Given the description of an element on the screen output the (x, y) to click on. 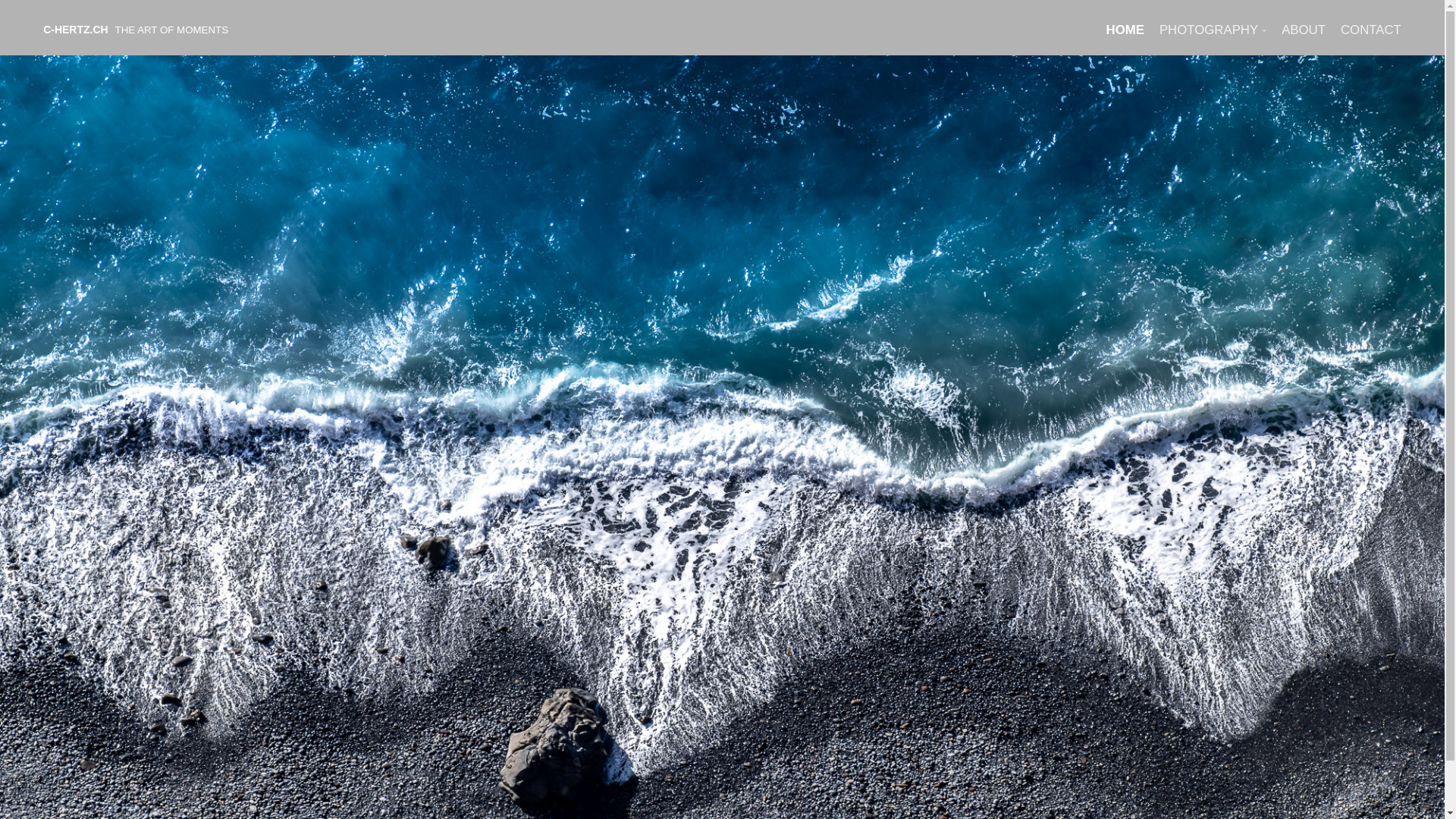
CONTACT Element type: text (1370, 29)
ABOUT Element type: text (1303, 29)
PHOTOGRAPHY Element type: text (1208, 29)
HOME Element type: text (1125, 29)
